Given the description of an element on the screen output the (x, y) to click on. 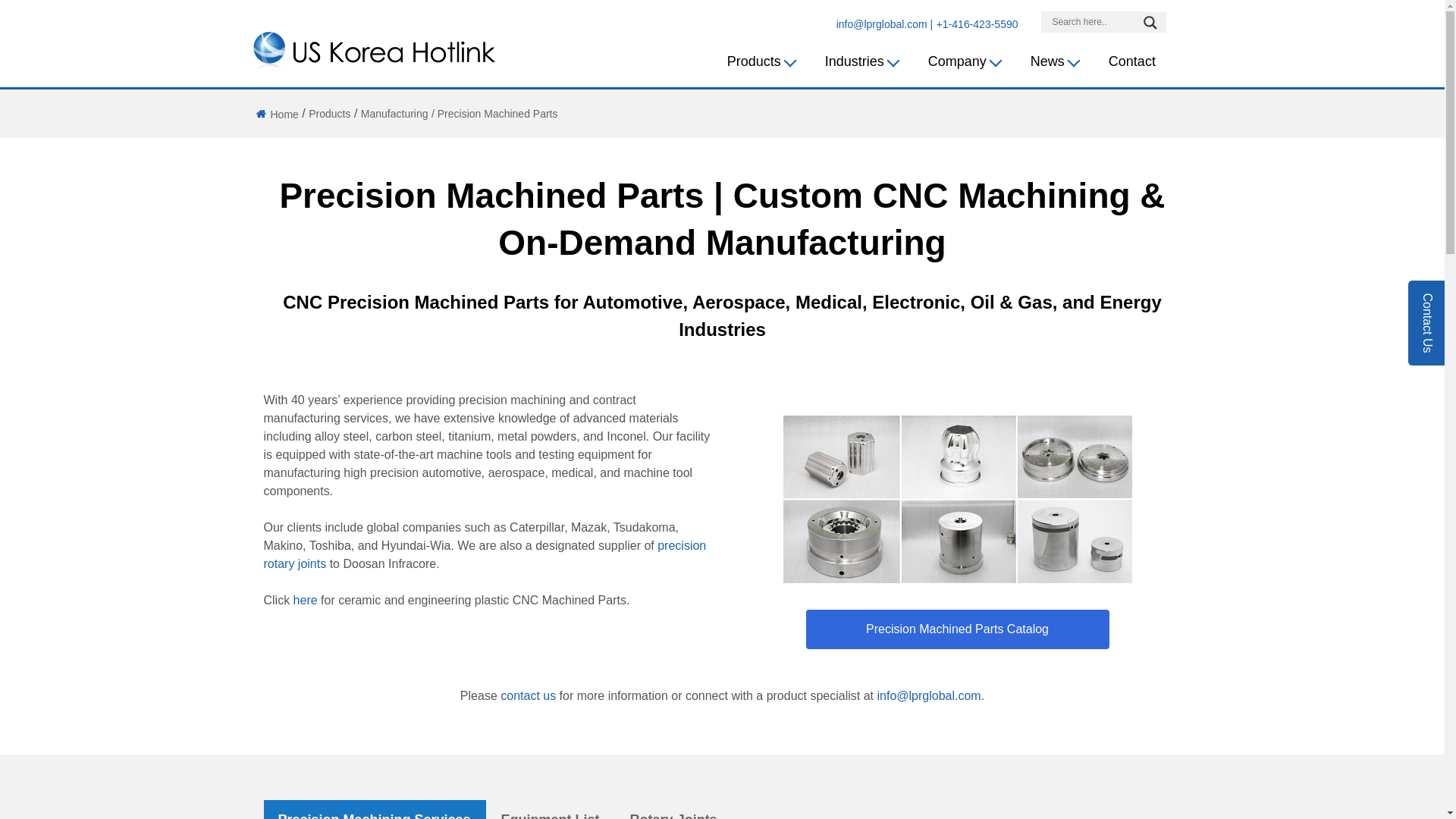
Industries (876, 61)
Contact (1132, 61)
Company (979, 61)
precision-machining (957, 499)
Home (274, 114)
News (1069, 61)
Products (329, 113)
Products (775, 61)
